Given the description of an element on the screen output the (x, y) to click on. 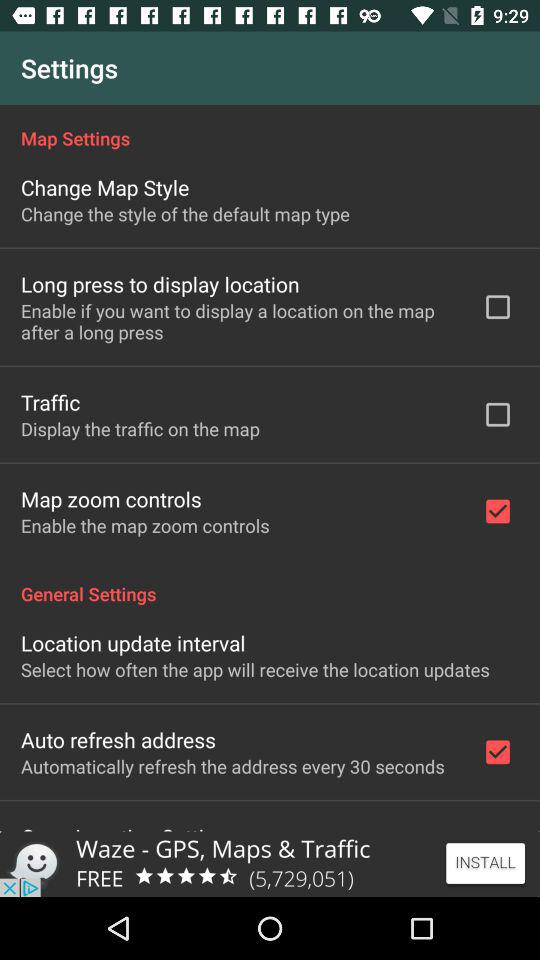
scroll to the open location settings icon (129, 826)
